Given the description of an element on the screen output the (x, y) to click on. 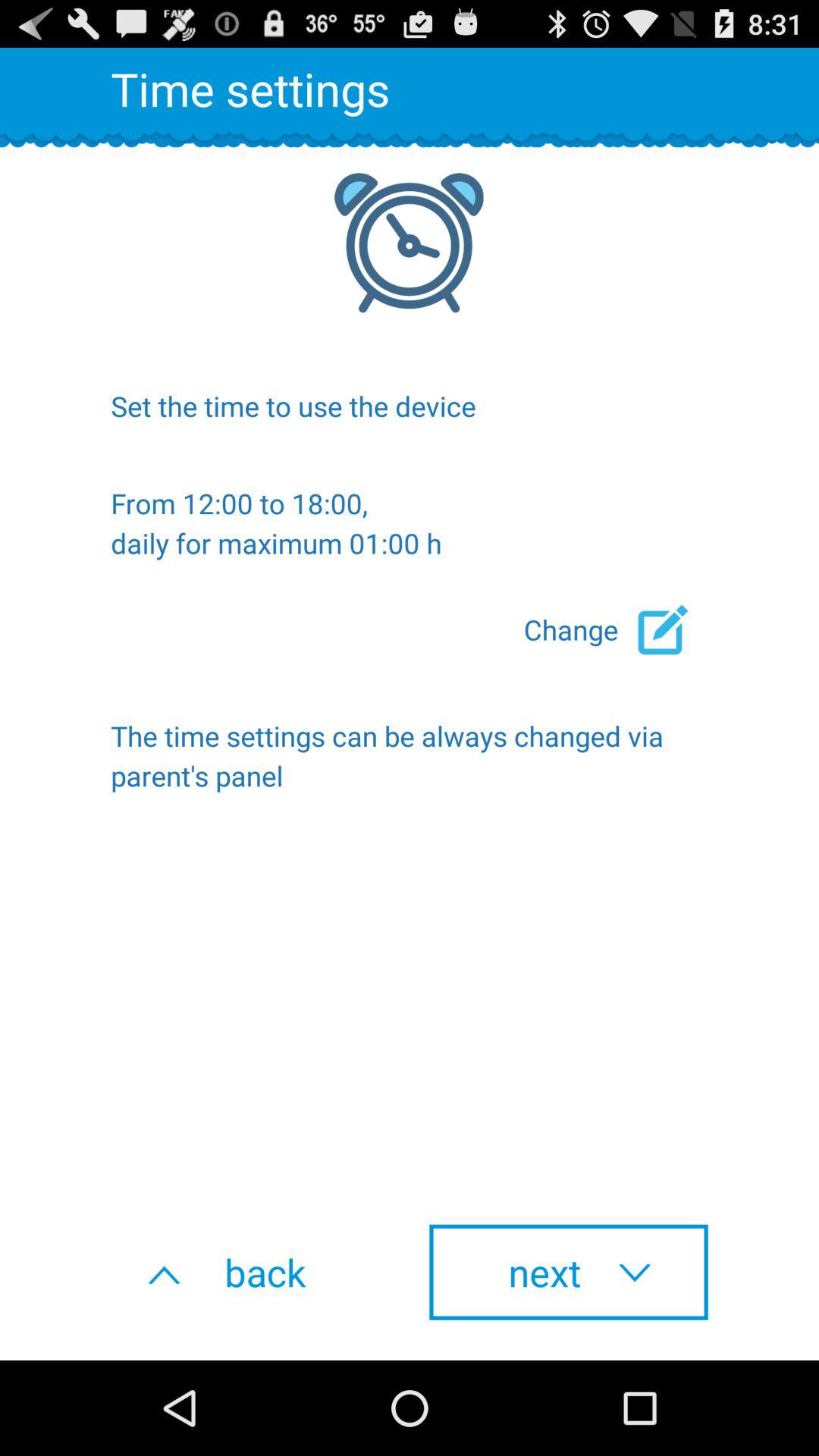
choose the icon to the right of the back (568, 1272)
